Given the description of an element on the screen output the (x, y) to click on. 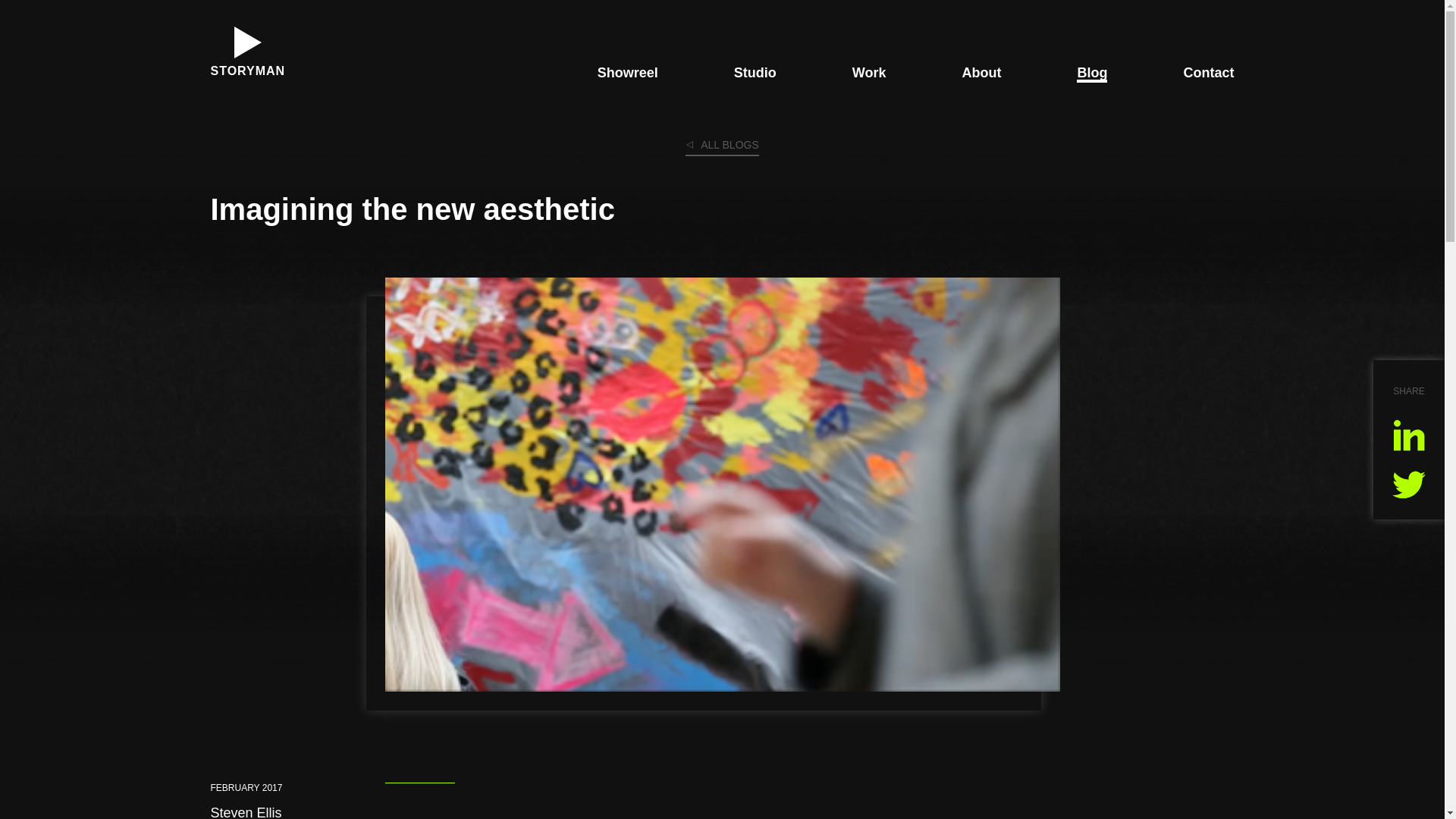
ALL BLOGS (721, 146)
Showreel (627, 72)
Contact (1207, 72)
Share on LinkedIn (1408, 435)
STORYMAN (248, 53)
Studio (754, 72)
Work (868, 72)
About (980, 72)
Share on Twitter (1408, 483)
Blog (1091, 73)
